Given the description of an element on the screen output the (x, y) to click on. 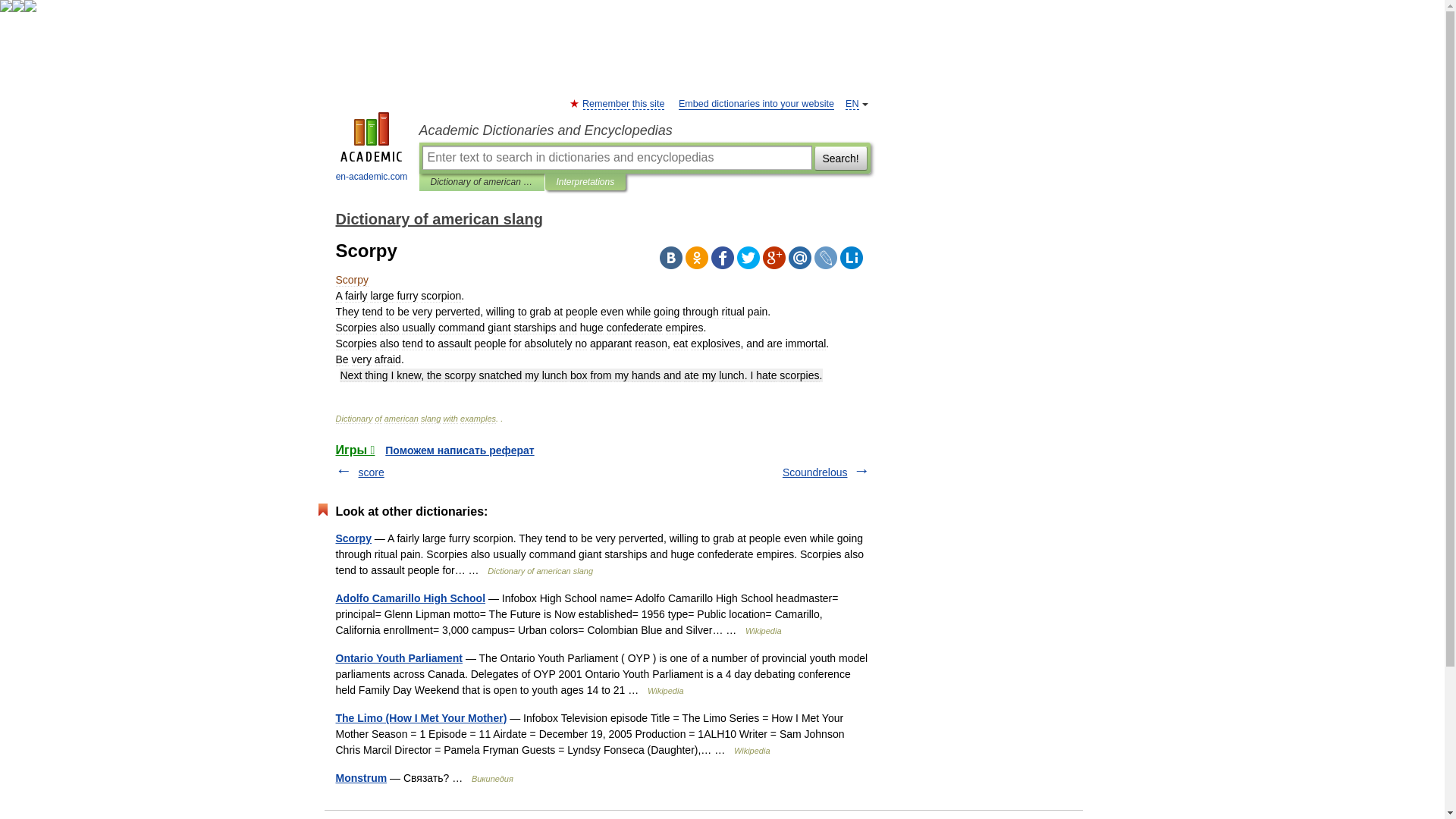
Embed dictionaries into your website (756, 103)
Scoundrelous (815, 472)
Scorpy (352, 538)
Remember this site (623, 103)
Academic Dictionaries and Encyclopedias (644, 130)
Dictionary of american slang (481, 181)
Monstrum (360, 777)
Ontario Youth Parliament (398, 657)
Dictionary of american slang (437, 218)
Search! (840, 157)
